Given the description of an element on the screen output the (x, y) to click on. 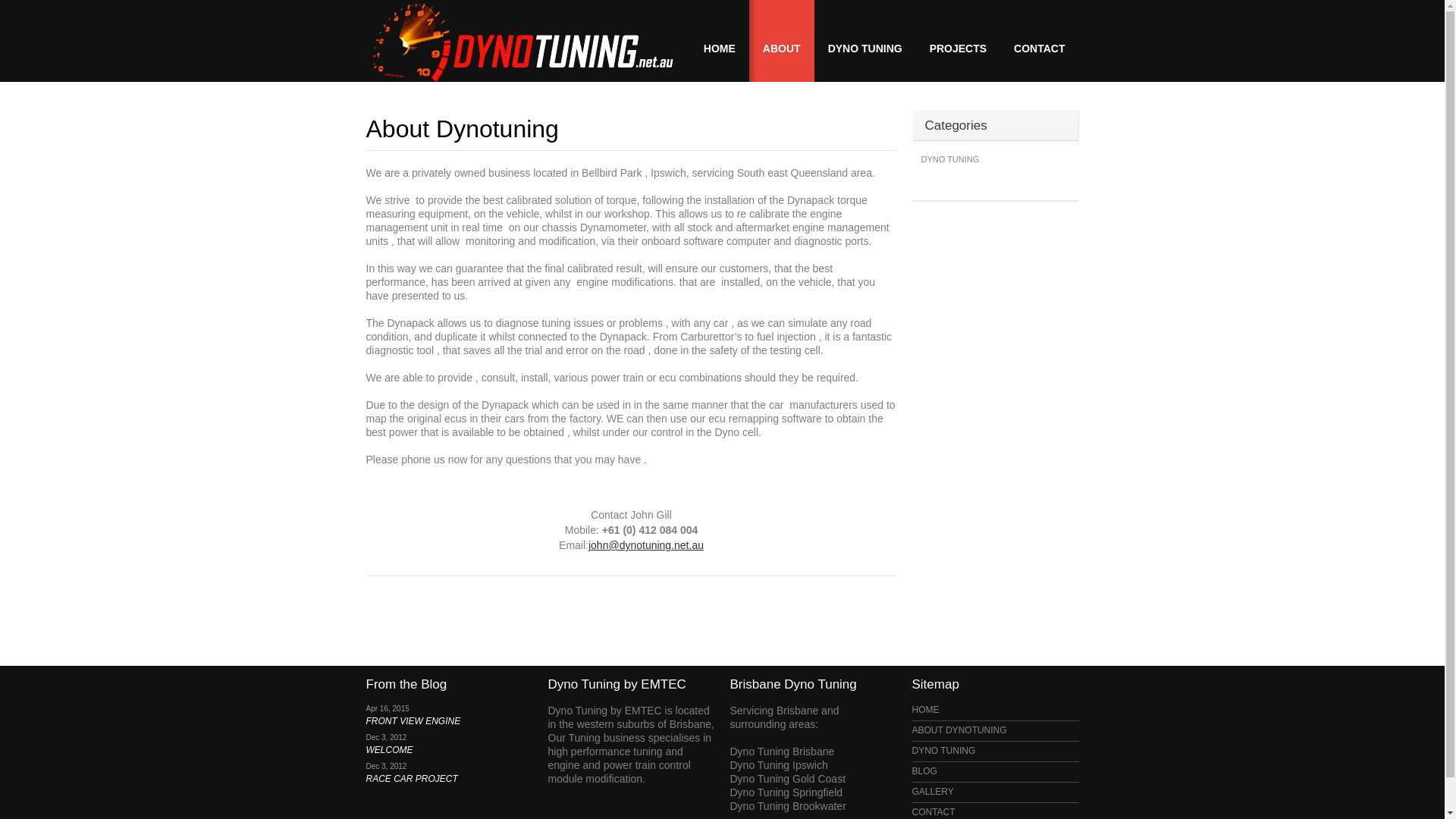
FRONT VIEW ENGINE Element type: text (412, 720)
BLOG Element type: text (923, 770)
ABOUT Element type: text (781, 40)
DYNO TUNING Element type: text (949, 158)
GALLERY Element type: text (932, 791)
ABOUT DYNOTUNING Element type: text (958, 729)
WELCOME Element type: text (388, 749)
CONTACT Element type: text (932, 811)
john@dynotuning.net.au Element type: text (645, 545)
DYNO TUNING Element type: text (943, 750)
RACE CAR PROJECT Element type: text (411, 778)
HOME Element type: text (719, 40)
CONTACT Element type: text (1039, 40)
PROJECTS Element type: text (958, 40)
HOME Element type: text (924, 709)
DYNO TUNING Element type: text (865, 40)
